Given the description of an element on the screen output the (x, y) to click on. 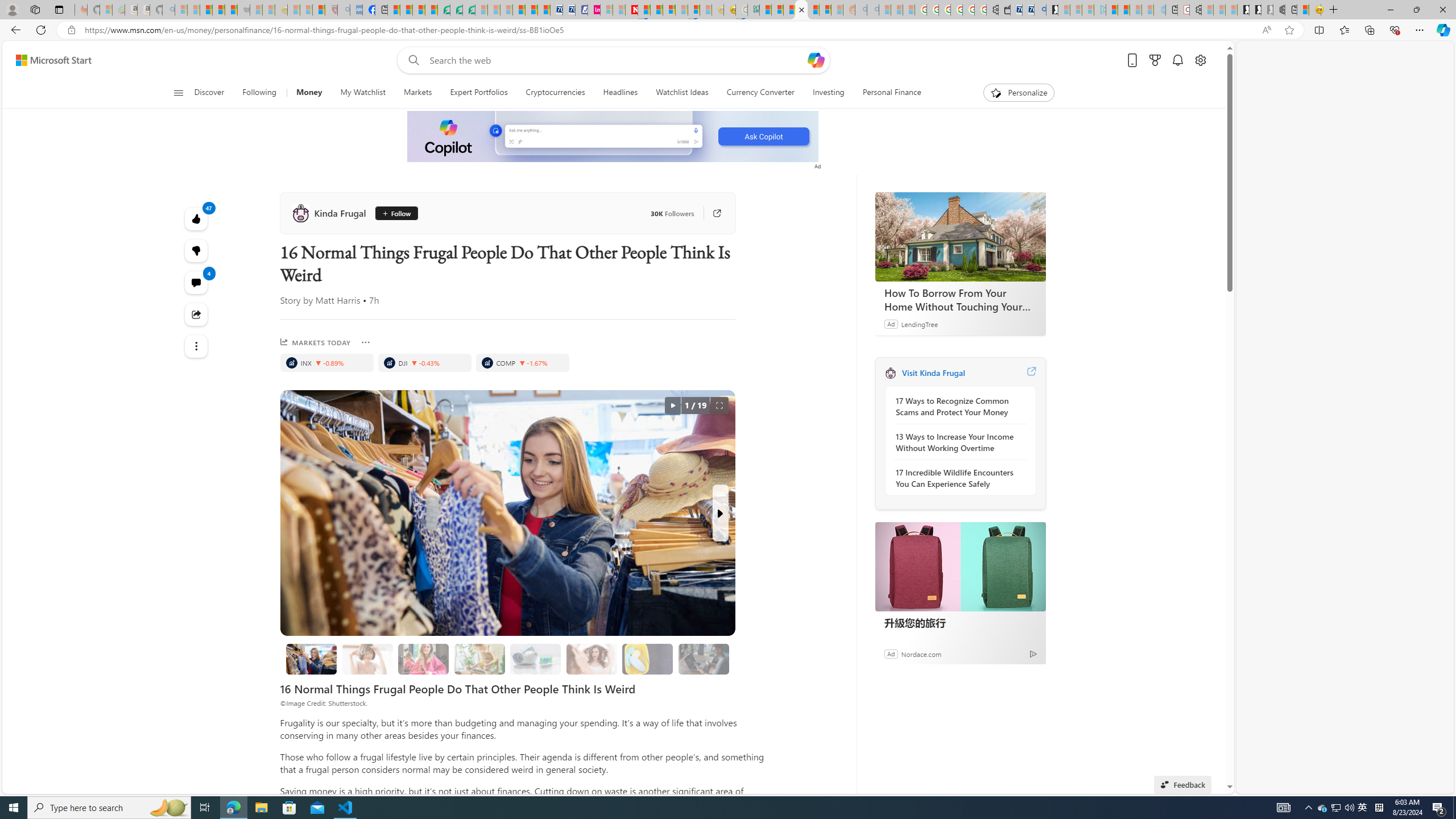
Class: progress (703, 656)
Class: at-item (196, 345)
Go to publisher's site (710, 213)
3. Growing From Seeds (479, 658)
